Given the description of an element on the screen output the (x, y) to click on. 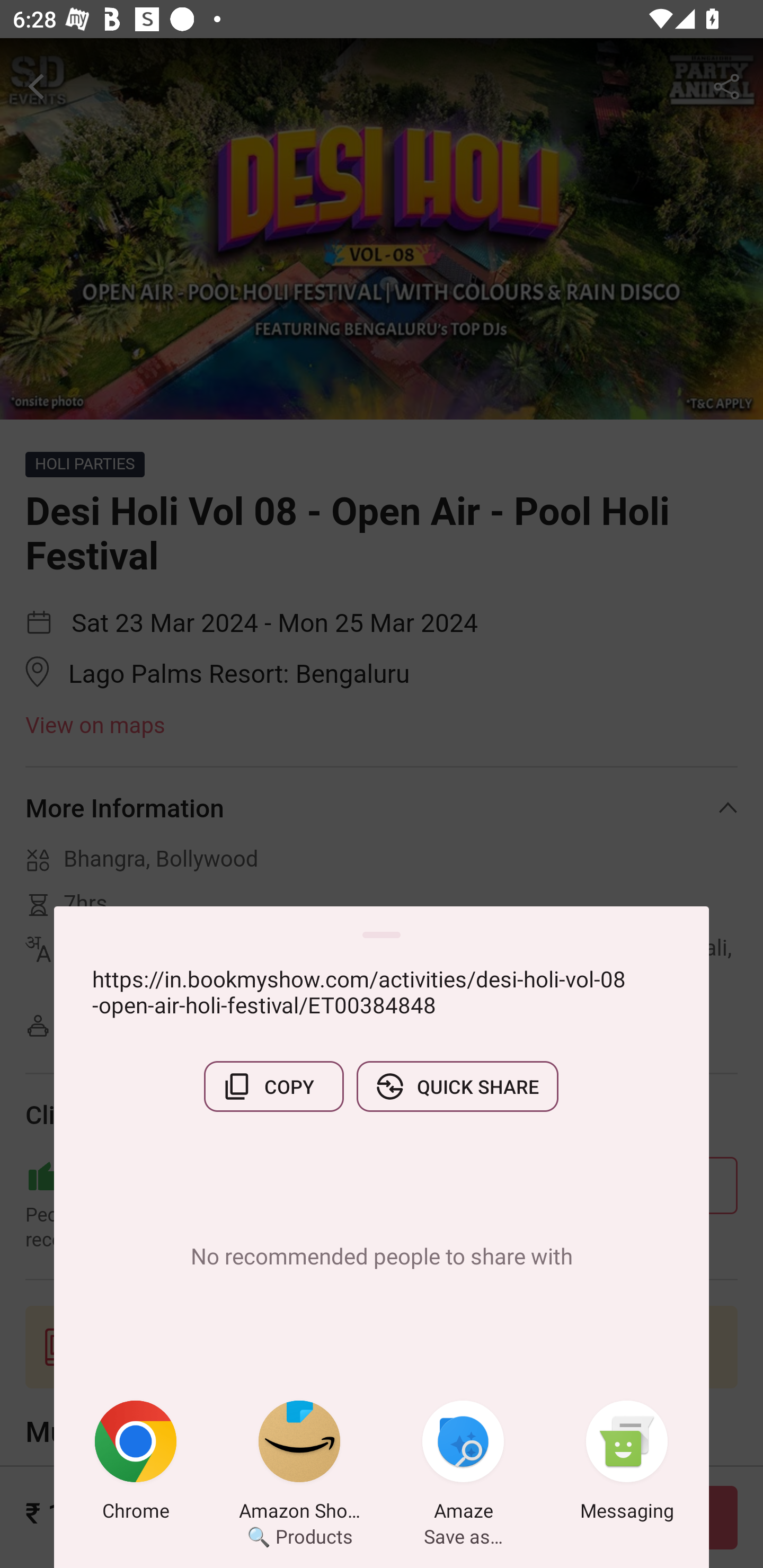
COPY (273, 1086)
QUICK SHARE (457, 1086)
Chrome (135, 1463)
Amazon Shopping 🔍 Products (299, 1463)
Amaze Save as… (463, 1463)
Messaging (626, 1463)
